Given the description of an element on the screen output the (x, y) to click on. 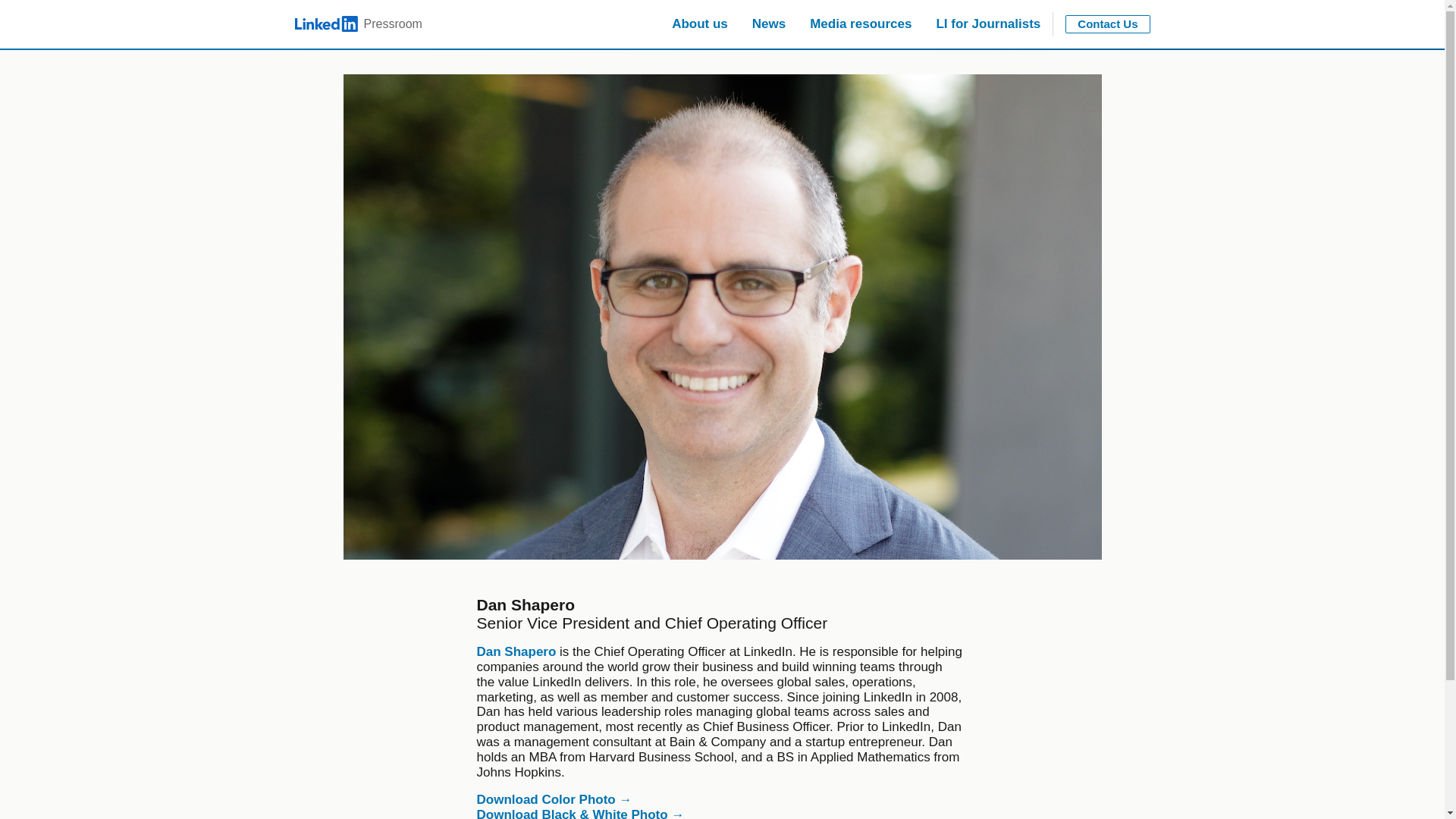
Dan Shapero (516, 651)
Media resources (860, 24)
LI for Journalists (987, 24)
About us (699, 24)
Contact Us (1107, 24)
News (768, 24)
About us (699, 24)
Media resources (860, 24)
LI for Journalists (987, 24)
News (357, 23)
